Given the description of an element on the screen output the (x, y) to click on. 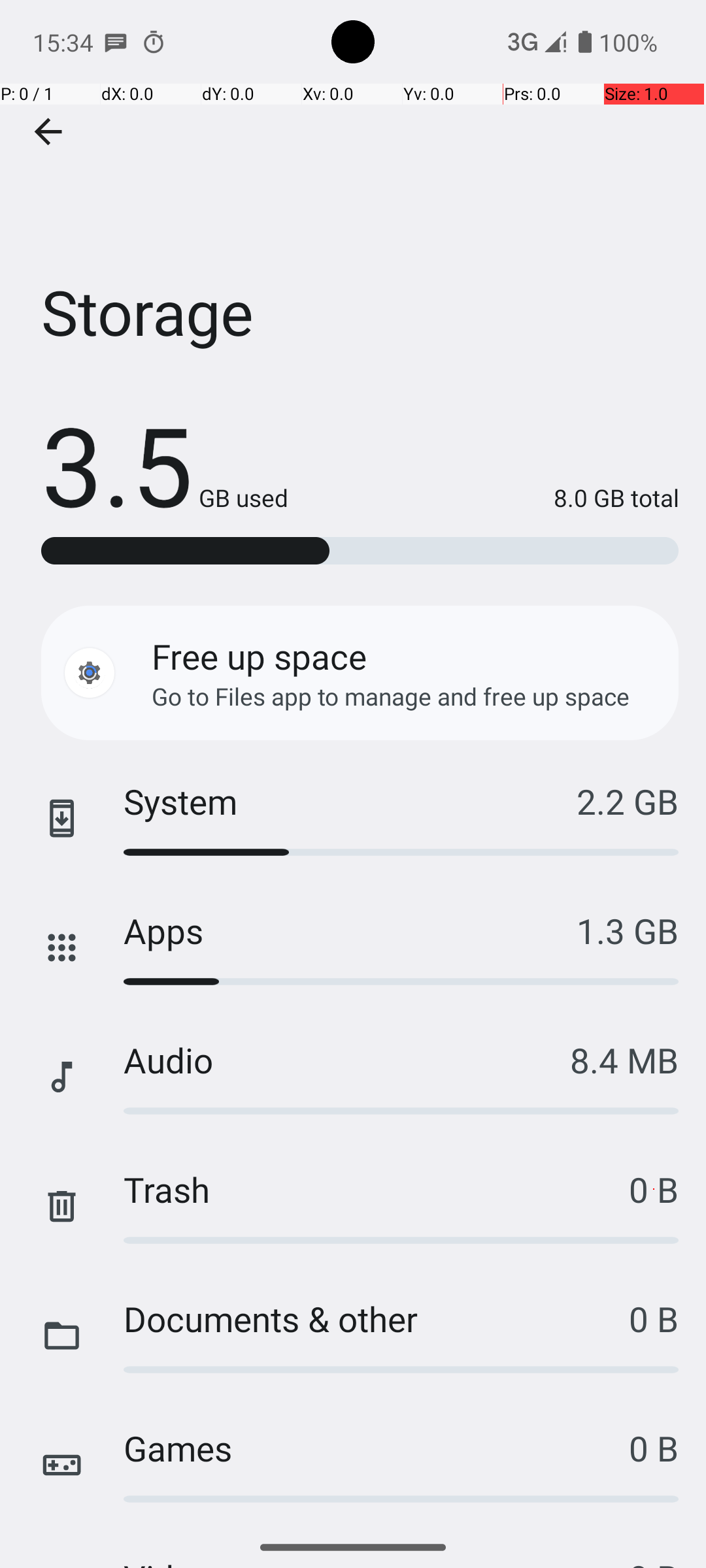
3.5 GB used Element type: android.widget.TextView (164, 463)
8.0 GB total Element type: android.widget.TextView (483, 497)
Free up space Element type: android.widget.TextView (258, 656)
Go to Files app to manage and free up space Element type: android.widget.TextView (390, 695)
2.2 GB Element type: android.widget.TextView (627, 801)
1.3 GB Element type: android.widget.TextView (627, 930)
8.4 MB Element type: android.widget.TextView (624, 1059)
Trash Element type: android.widget.TextView (375, 1189)
0 B Element type: android.widget.TextView (653, 1189)
Documents & other Element type: android.widget.TextView (375, 1318)
Games Element type: android.widget.TextView (375, 1447)
